Given the description of an element on the screen output the (x, y) to click on. 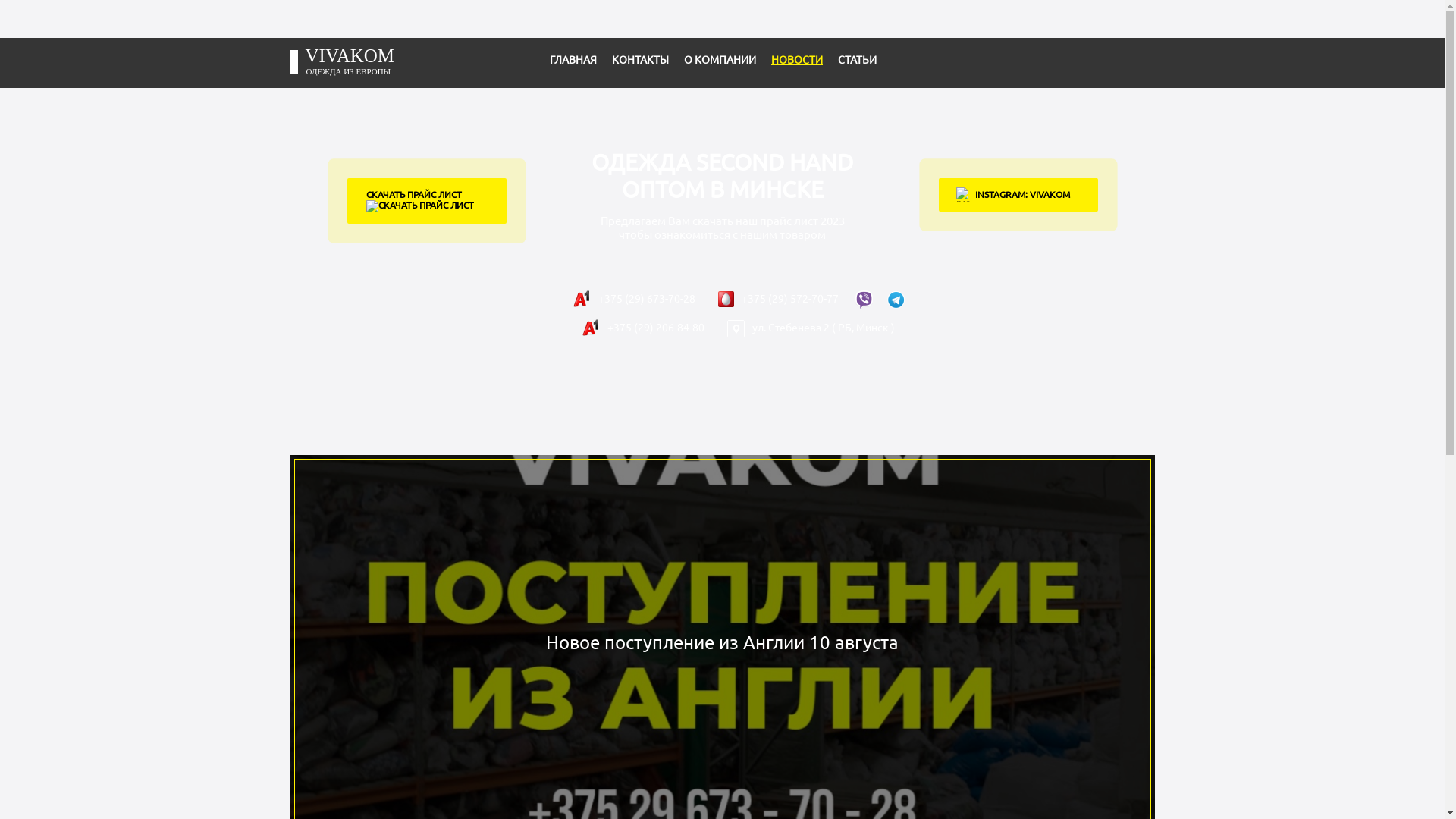
+375 (29) 206-84-80 Element type: text (642, 327)
+375 (29) 673-70-28 Element type: text (633, 298)
INSTAGRAM: VIVAKOM Element type: text (1018, 194)
+375 (29) 572-70-77 Element type: text (778, 298)
